Given the description of an element on the screen output the (x, y) to click on. 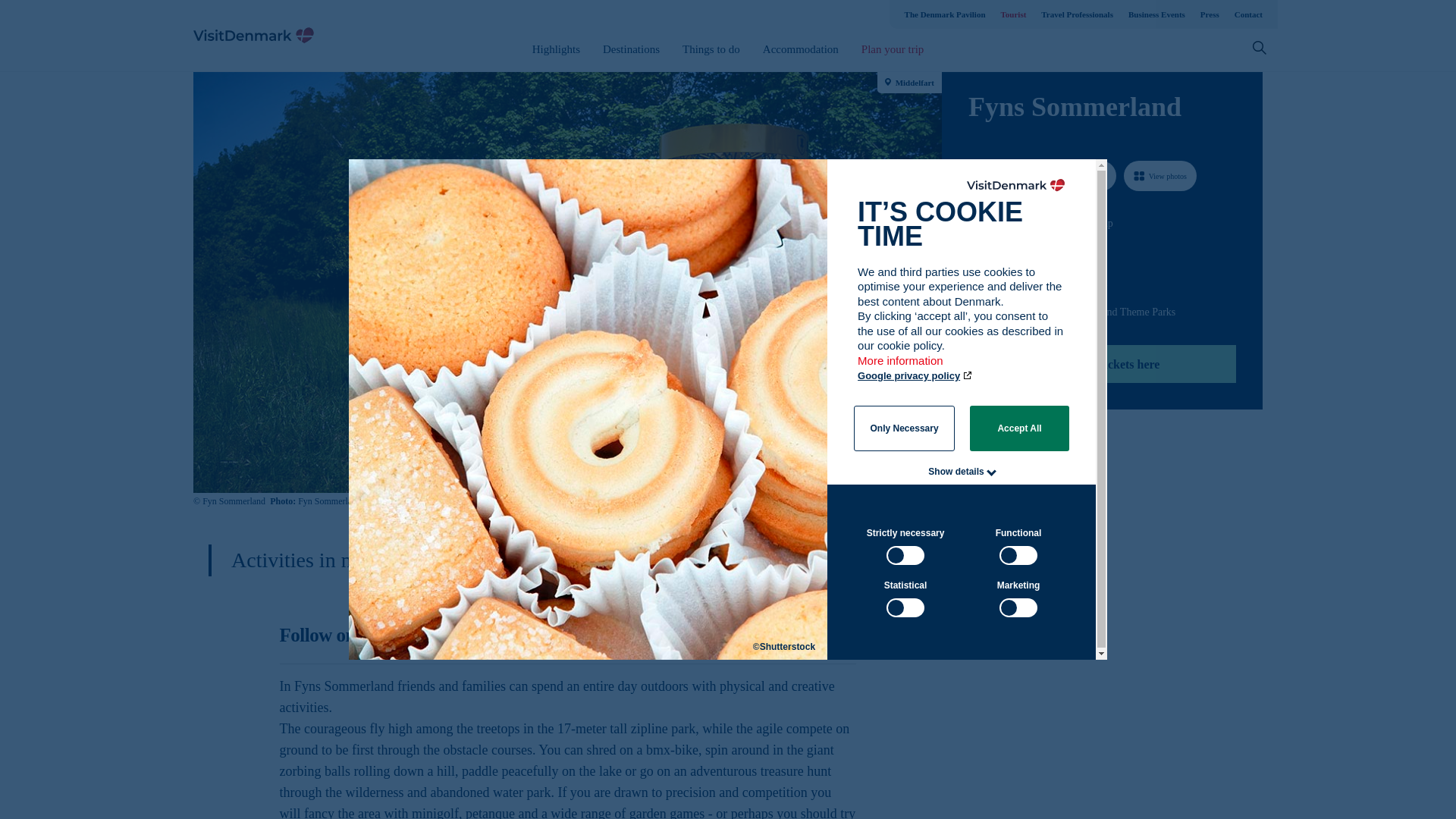
More information (900, 367)
Google privacy policy (915, 375)
Accept All (1018, 428)
Path (973, 250)
Only Necessary (904, 428)
Show details (956, 471)
